Given the description of an element on the screen output the (x, y) to click on. 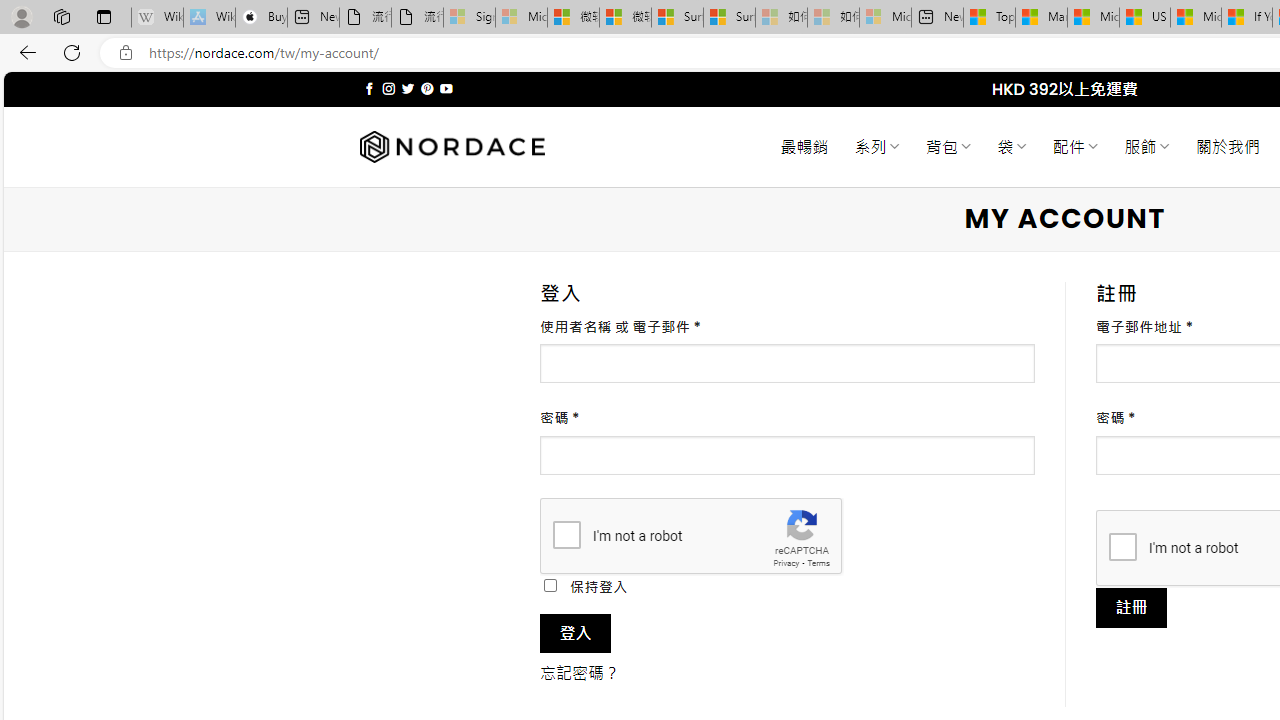
Microsoft Services Agreement - Sleeping (520, 17)
Sign in to your Microsoft account - Sleeping (469, 17)
I'm not a robot (1122, 546)
Follow on Instagram (388, 88)
Follow on Pinterest (427, 88)
